Given the description of an element on the screen output the (x, y) to click on. 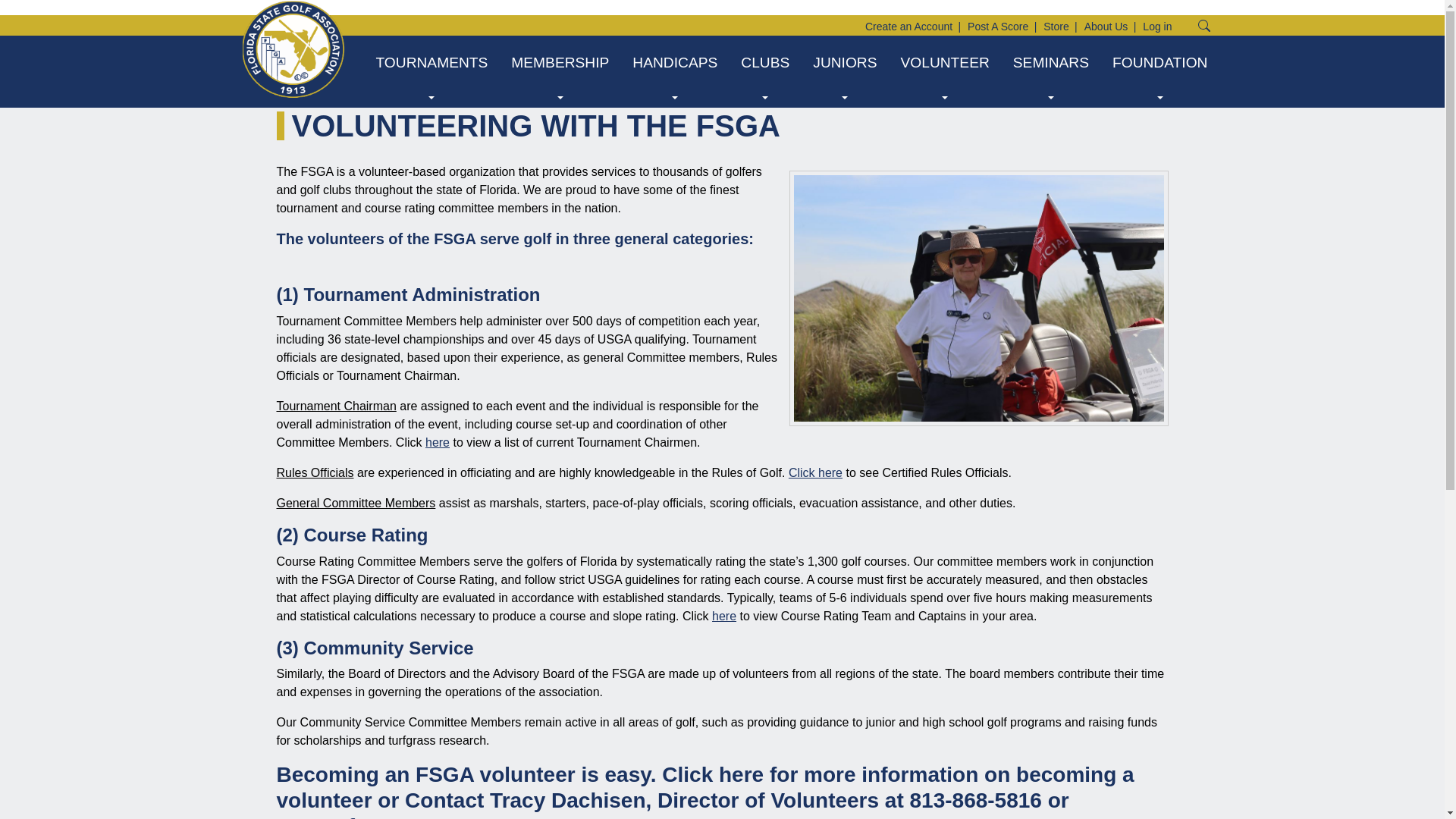
Post A Score (997, 26)
Create an Account (908, 26)
About Us (1106, 26)
TOURNAMENTS (432, 62)
Store (1055, 26)
Log in (1157, 26)
